Given the description of an element on the screen output the (x, y) to click on. 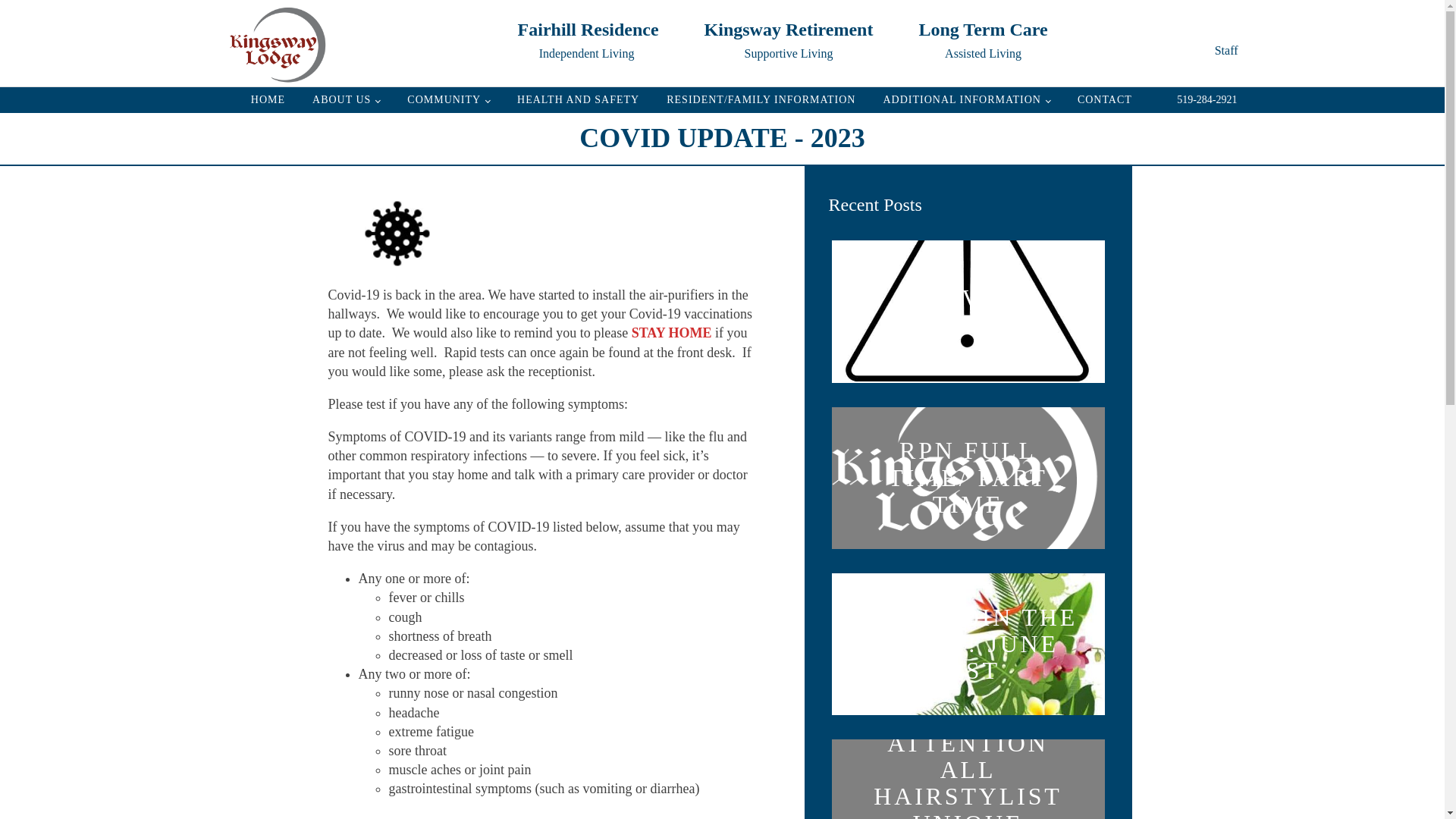
HEALTH AND SAFETY (577, 99)
ADDITIONAL INFORMATION (965, 99)
HOME (267, 99)
ABOUT US (982, 39)
519-284-2921 (345, 99)
CONTACT (1206, 99)
COMMUNITY (1104, 99)
COVID OUTBREAK (788, 39)
